Given the description of an element on the screen output the (x, y) to click on. 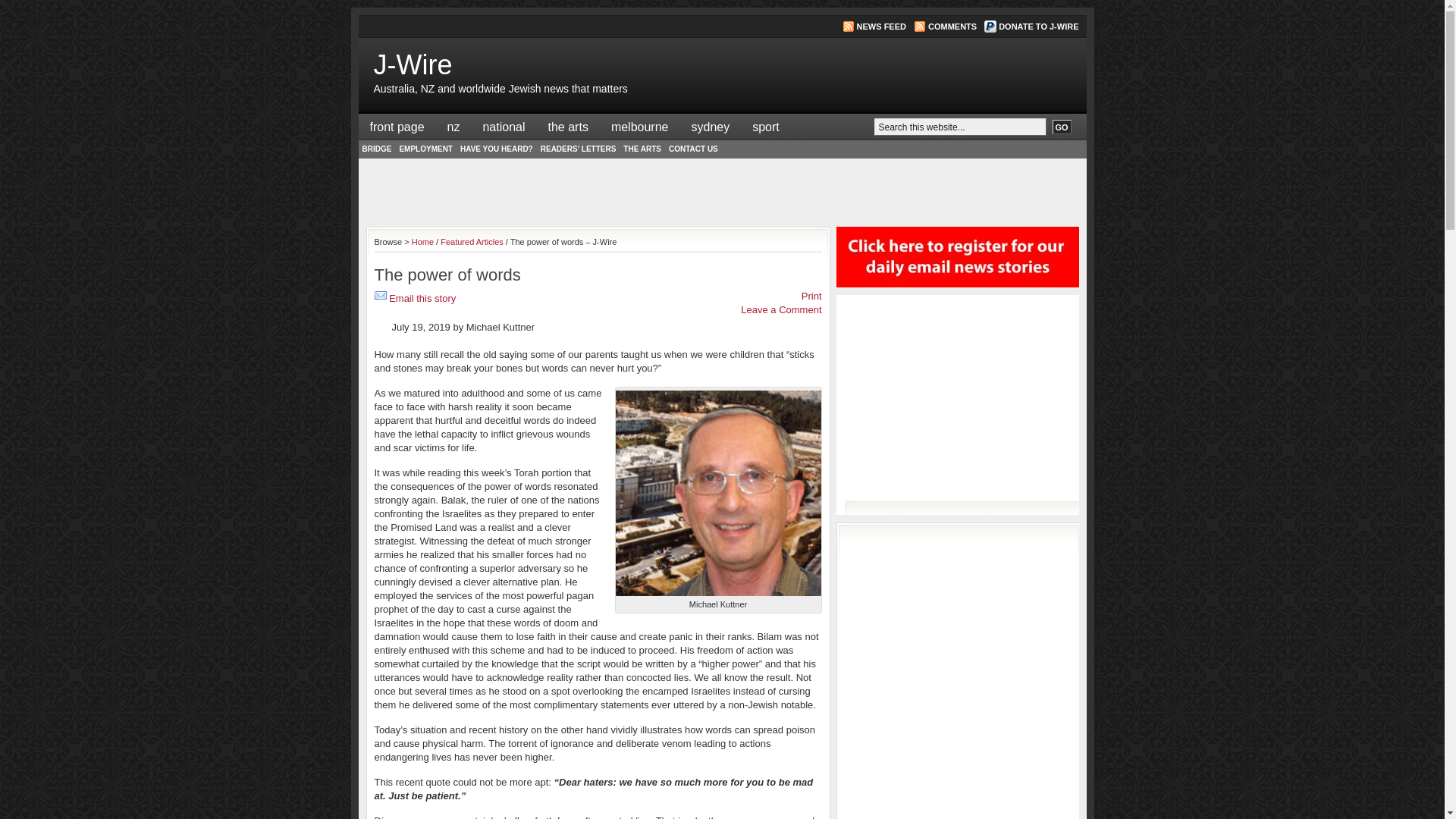
J-Wire Element type: text (412, 64)
sport Element type: text (765, 126)
DONATE TO J-WIRE Element type: text (1038, 26)
Print Element type: text (811, 295)
Email this story Element type: text (422, 298)
Click here to register for our daily email news stories Element type: hover (956, 291)
Email this story Element type: hover (380, 295)
melbourne Element type: text (639, 126)
national Element type: text (503, 126)
NEWS FEED Element type: text (881, 26)
GO Element type: text (1061, 126)
front page Element type: text (396, 126)
EMPLOYMENT Element type: text (425, 148)
nz Element type: text (453, 126)
THE ARTS Element type: text (642, 148)
Email this story Element type: hover (380, 298)
CONTACT US Element type: text (693, 148)
Home Element type: text (422, 241)
HAVE YOU HEARD? Element type: text (496, 148)
READERS' LETTERS Element type: text (578, 148)
COMMENTS Element type: text (952, 26)
Featured Articles Element type: text (471, 241)
the arts Element type: text (567, 126)
Leave a Comment Element type: text (780, 309)
sydney Element type: text (709, 126)
BRIDGE Element type: text (376, 148)
